Given the description of an element on the screen output the (x, y) to click on. 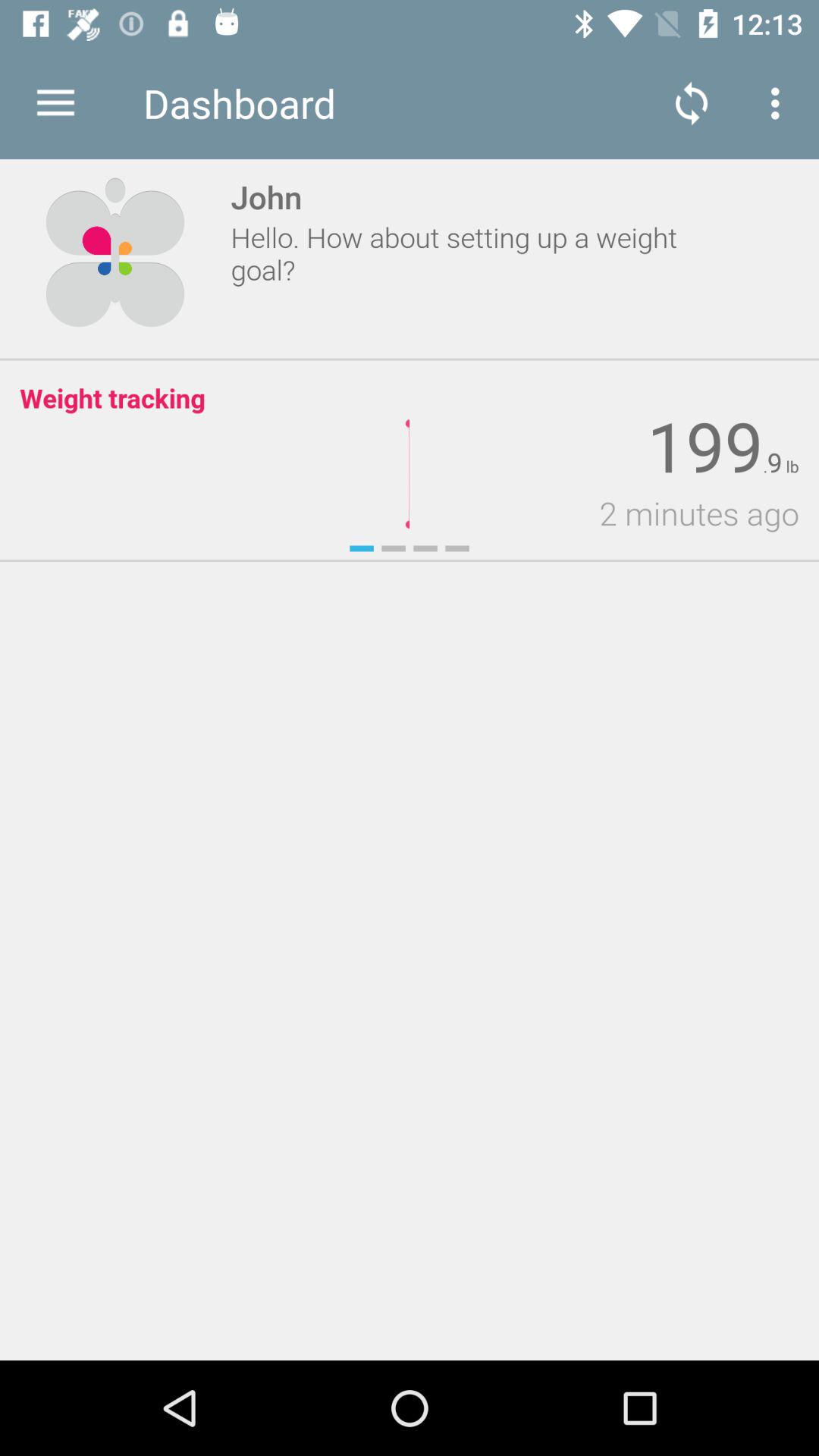
click the app next to the . icon (774, 462)
